Given the description of an element on the screen output the (x, y) to click on. 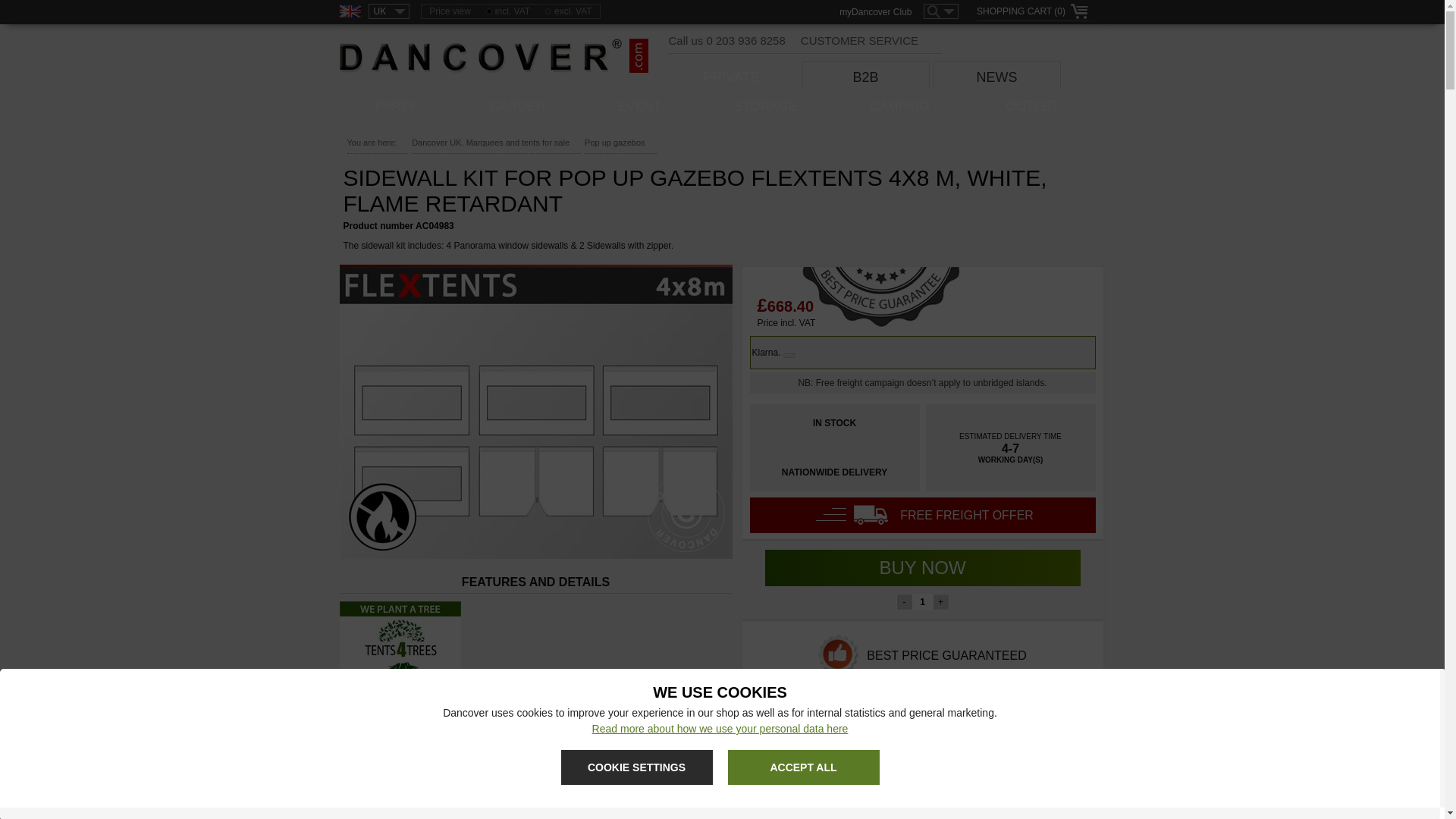
1 (922, 601)
Weight discs (534, 784)
Carry bags for FleXtents (671, 784)
Buy now (922, 567)
FleXtents Curtains (400, 784)
